Given the description of an element on the screen output the (x, y) to click on. 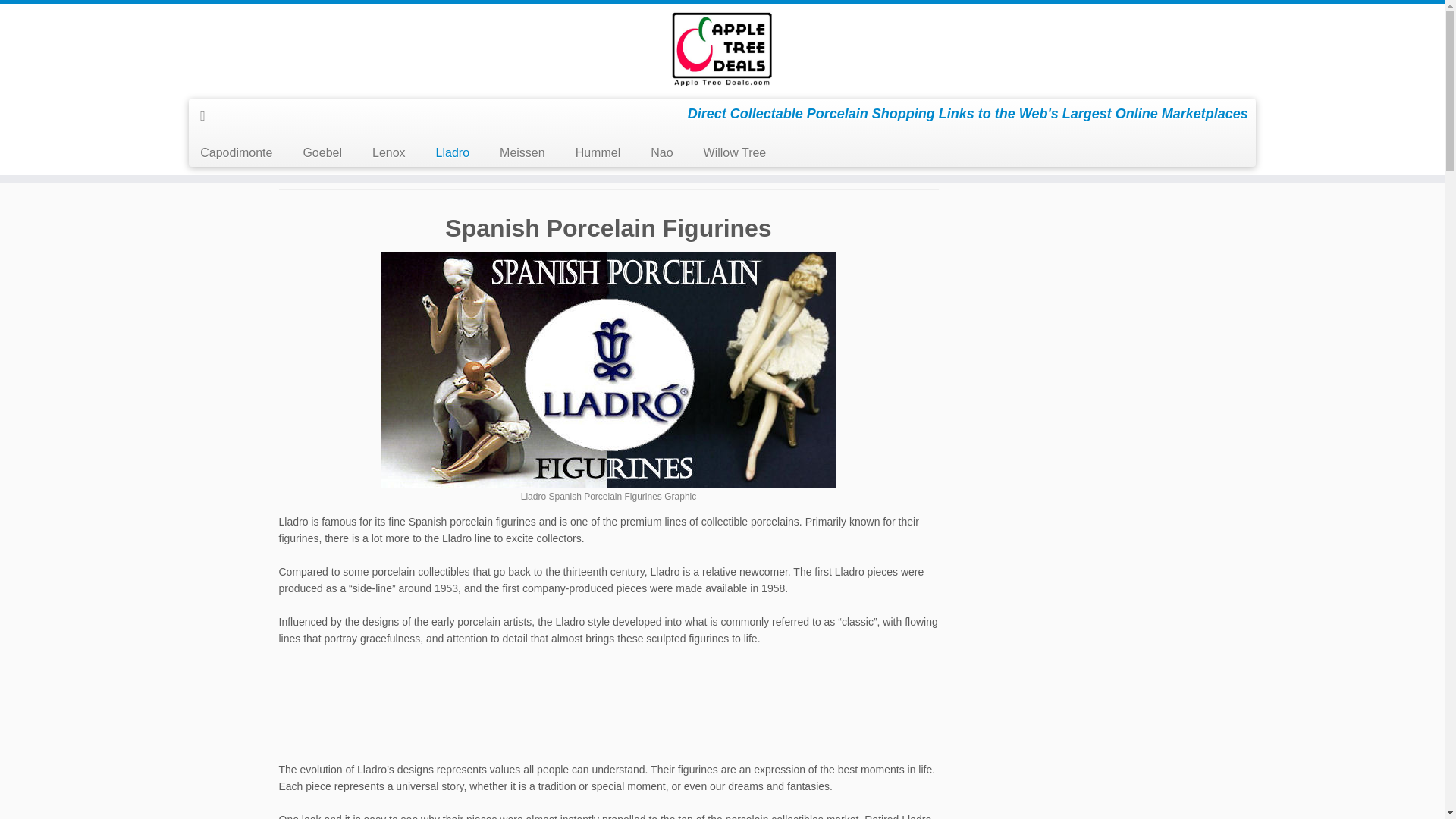
Lladro (452, 153)
Lenox (388, 153)
Subscribe to my rss feed (207, 115)
Willow Tree (734, 153)
Collectibles at Appletreedeals.com (293, 105)
Nao (660, 153)
Capodimonte (241, 153)
Meissen (522, 153)
Hummel (598, 153)
Goebel (321, 153)
